Given the description of an element on the screen output the (x, y) to click on. 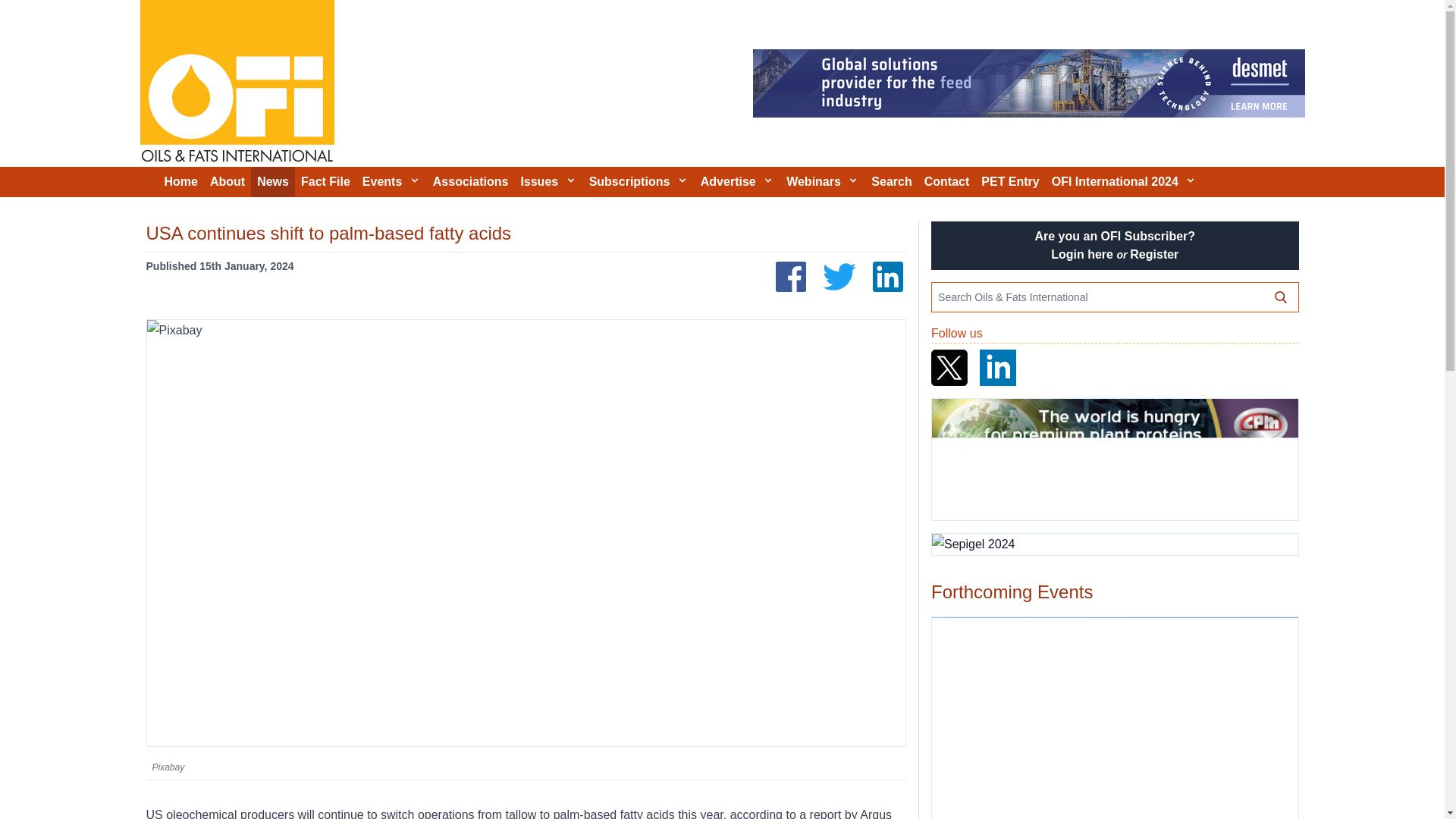
About (226, 182)
News (272, 182)
Share on Twitter (839, 276)
Associations (470, 182)
OFI International 2024 (1124, 182)
Advertise (737, 182)
Fact File (325, 182)
Issues (547, 182)
Events (391, 182)
Sepigel 2024 (1114, 544)
